Given the description of an element on the screen output the (x, y) to click on. 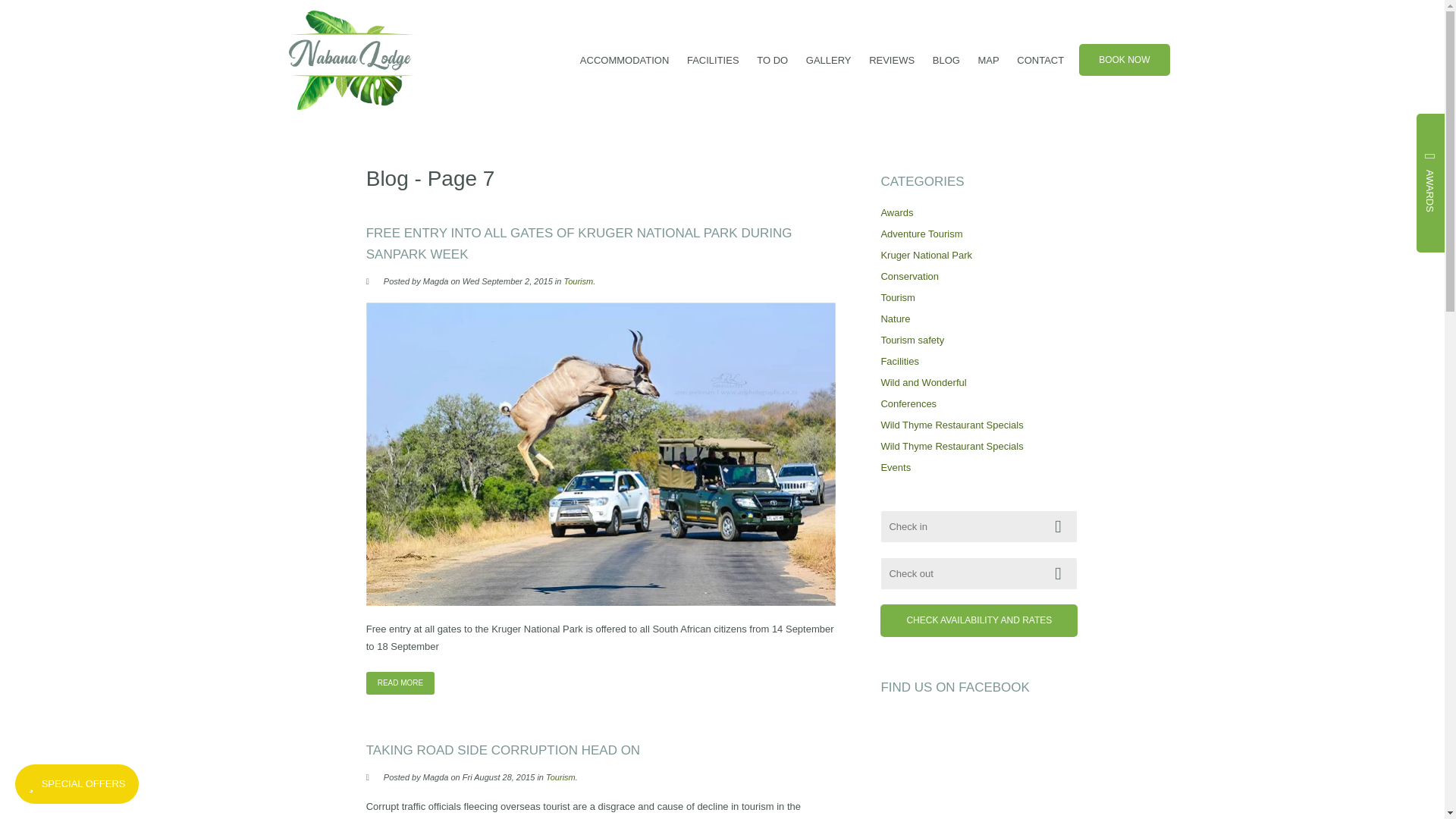
Check Availability and Rates (978, 620)
Nabana lodge (351, 59)
